Given the description of an element on the screen output the (x, y) to click on. 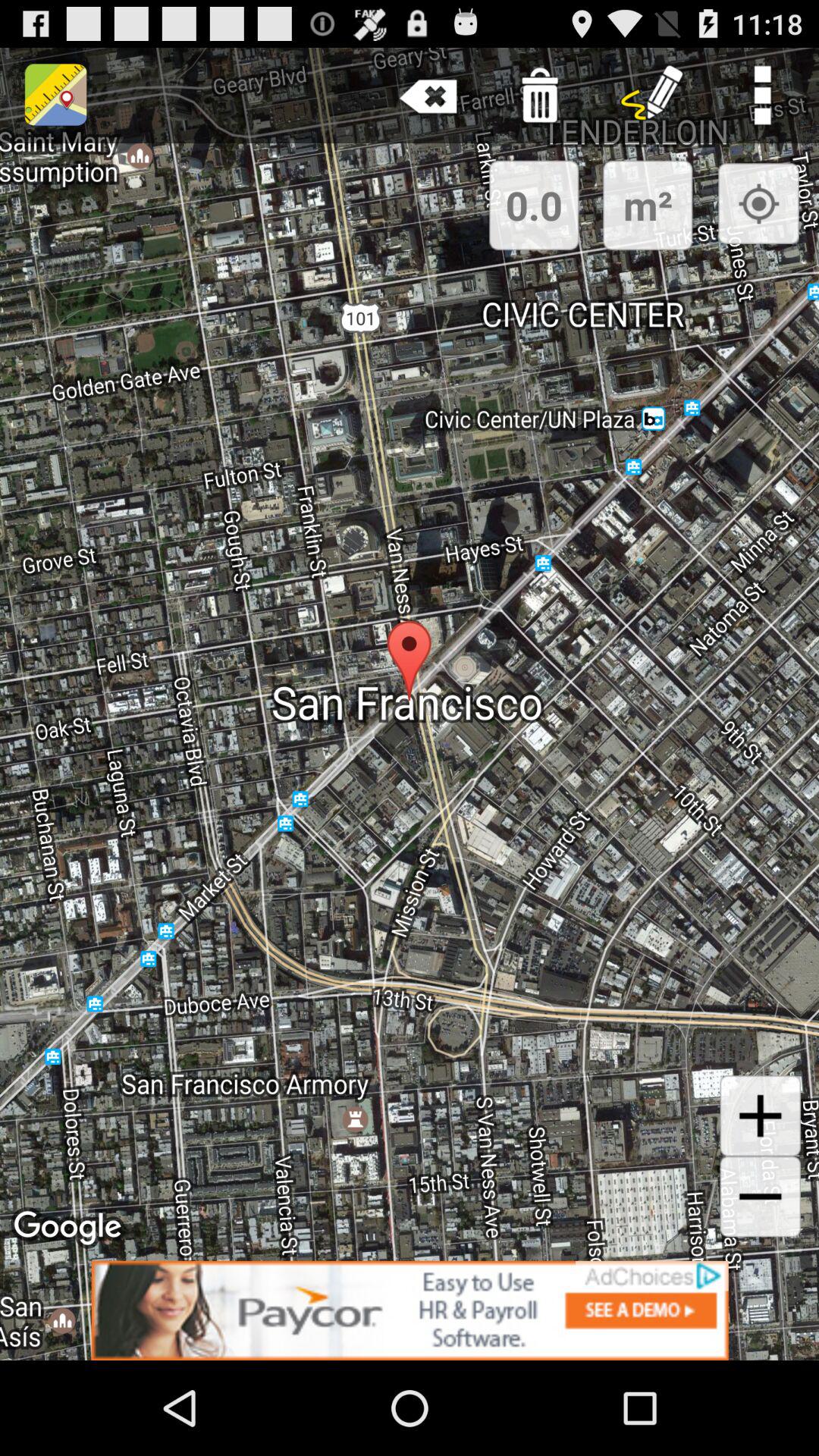
go to advertisement (409, 1310)
